Given the description of an element on the screen output the (x, y) to click on. 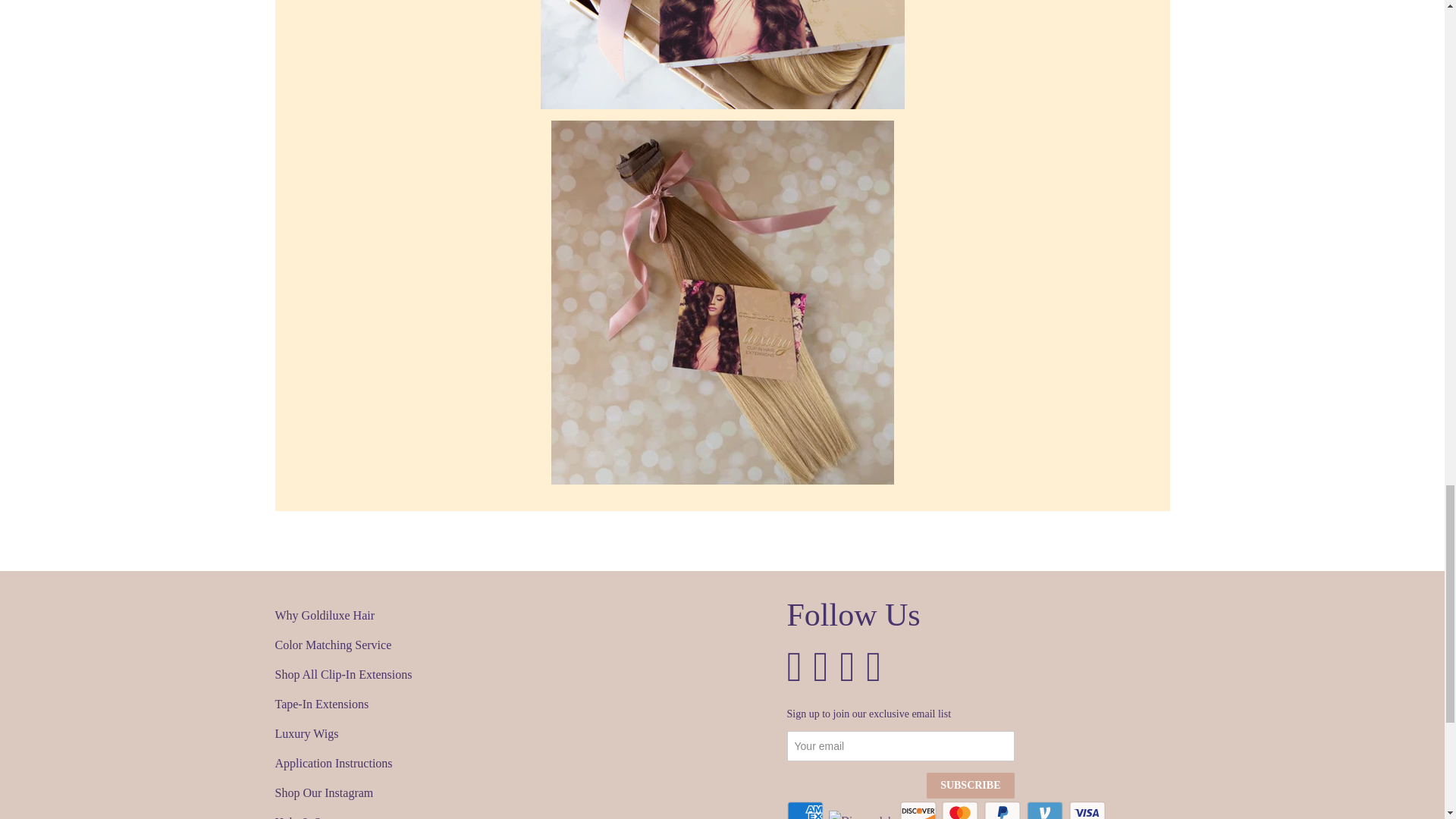
Color Matching Service (515, 644)
Shop All Clip-In Extensions (515, 674)
Application Instructions (515, 762)
Shop Our Instagram (515, 792)
Why Goldiluxe Hair (515, 615)
Luxury Wigs (515, 733)
Tape-In Extensions (515, 703)
